Given the description of an element on the screen output the (x, y) to click on. 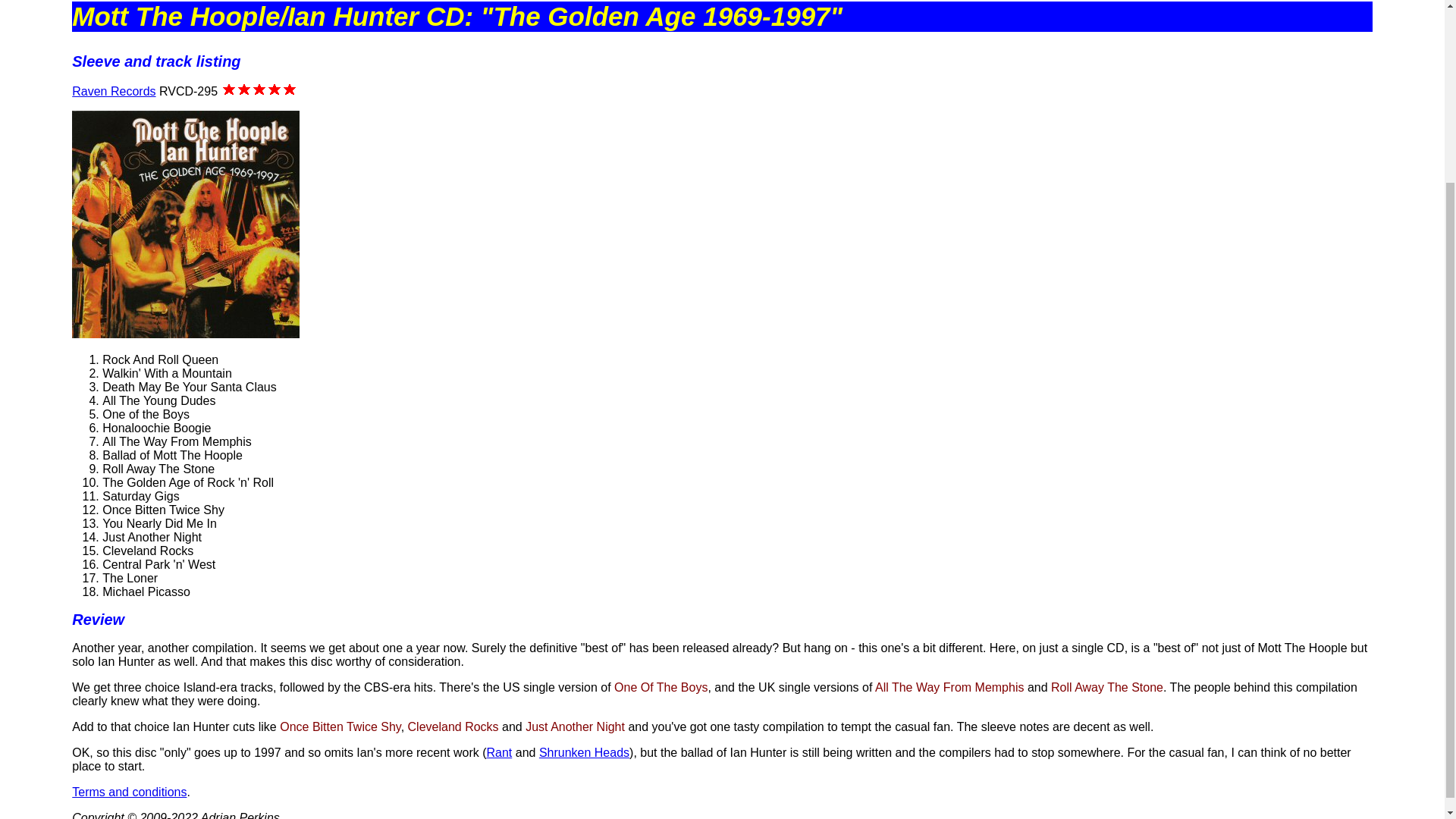
Raven Records (113, 91)
Terms and conditions (128, 791)
Shrunken Heads (583, 752)
Rant (499, 752)
